Given the description of an element on the screen output the (x, y) to click on. 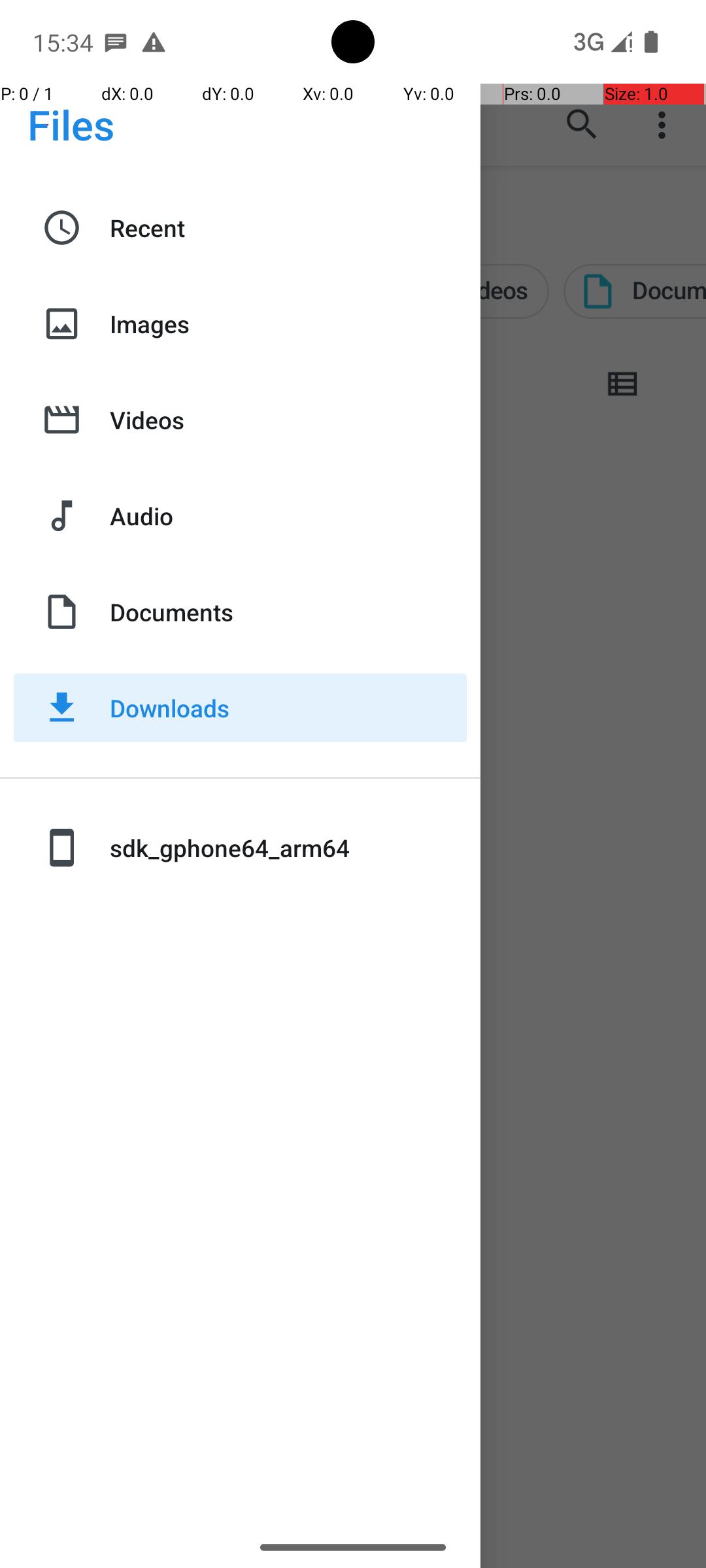
Files Element type: android.widget.TextView (70, 124)
sdk_gphone64_arm64 Element type: android.widget.TextView (287, 847)
